Given the description of an element on the screen output the (x, y) to click on. 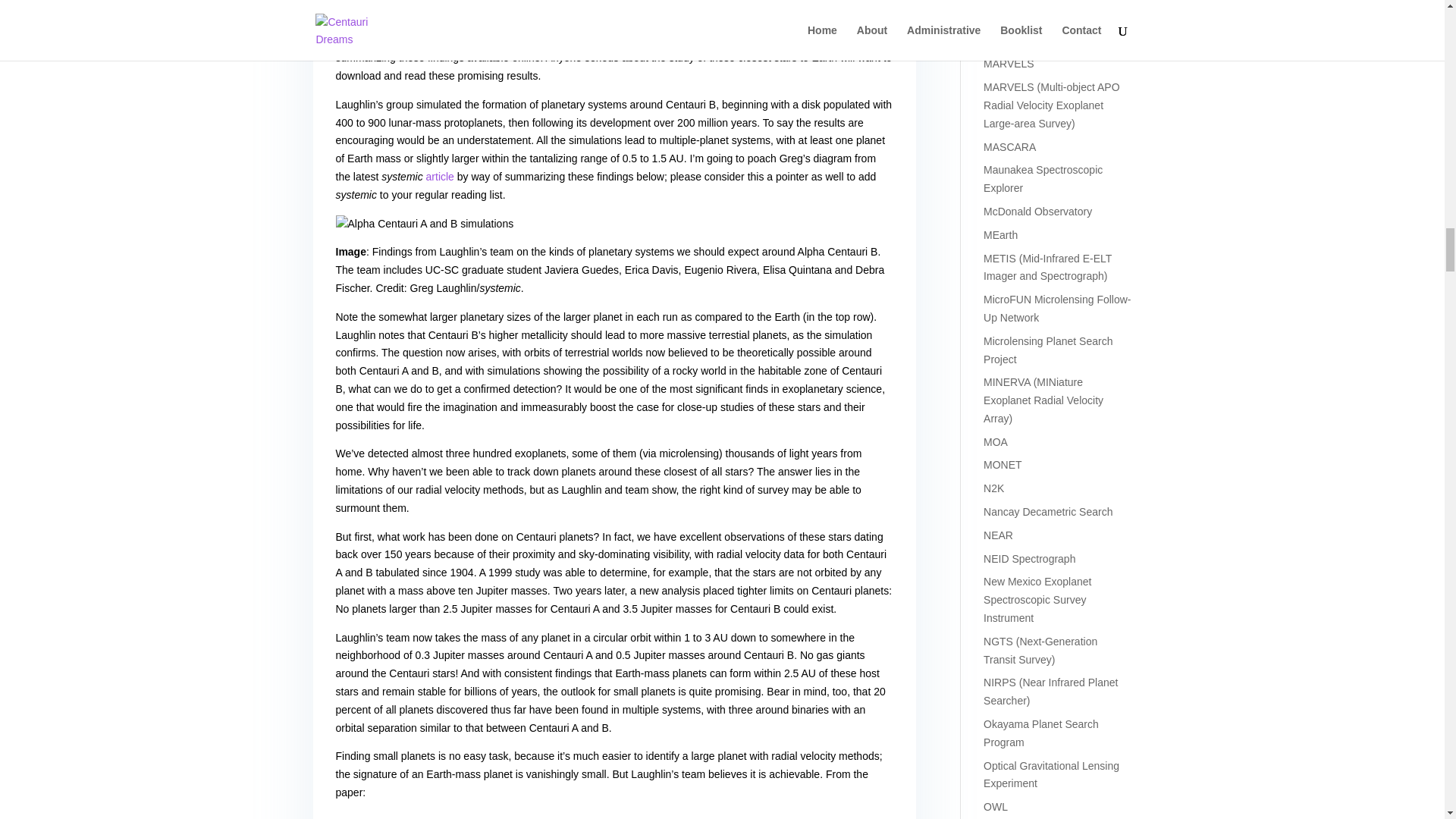
systemic (705, 21)
article (440, 176)
recent paper (852, 39)
